Given the description of an element on the screen output the (x, y) to click on. 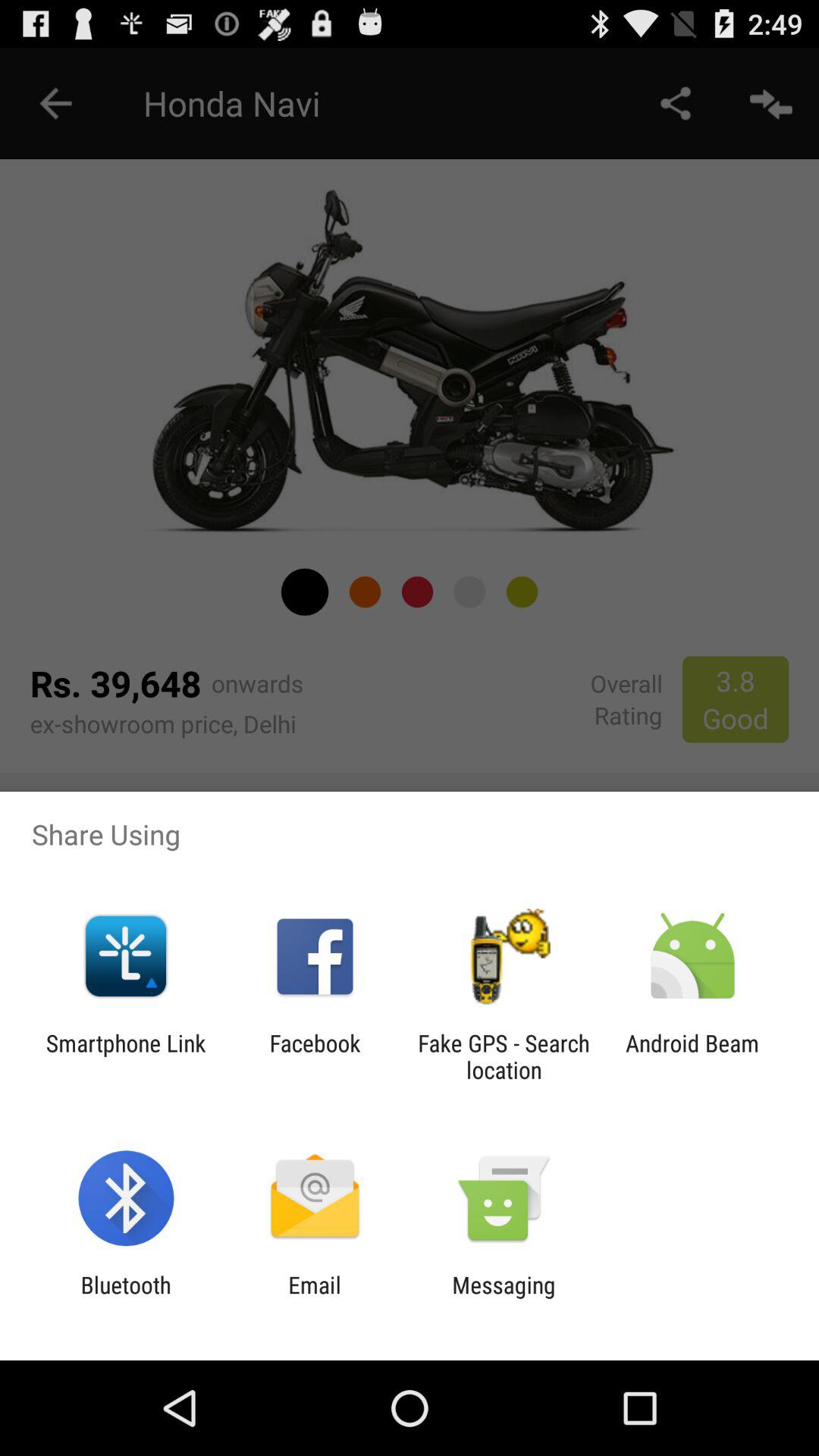
swipe until fake gps search icon (503, 1056)
